Given the description of an element on the screen output the (x, y) to click on. 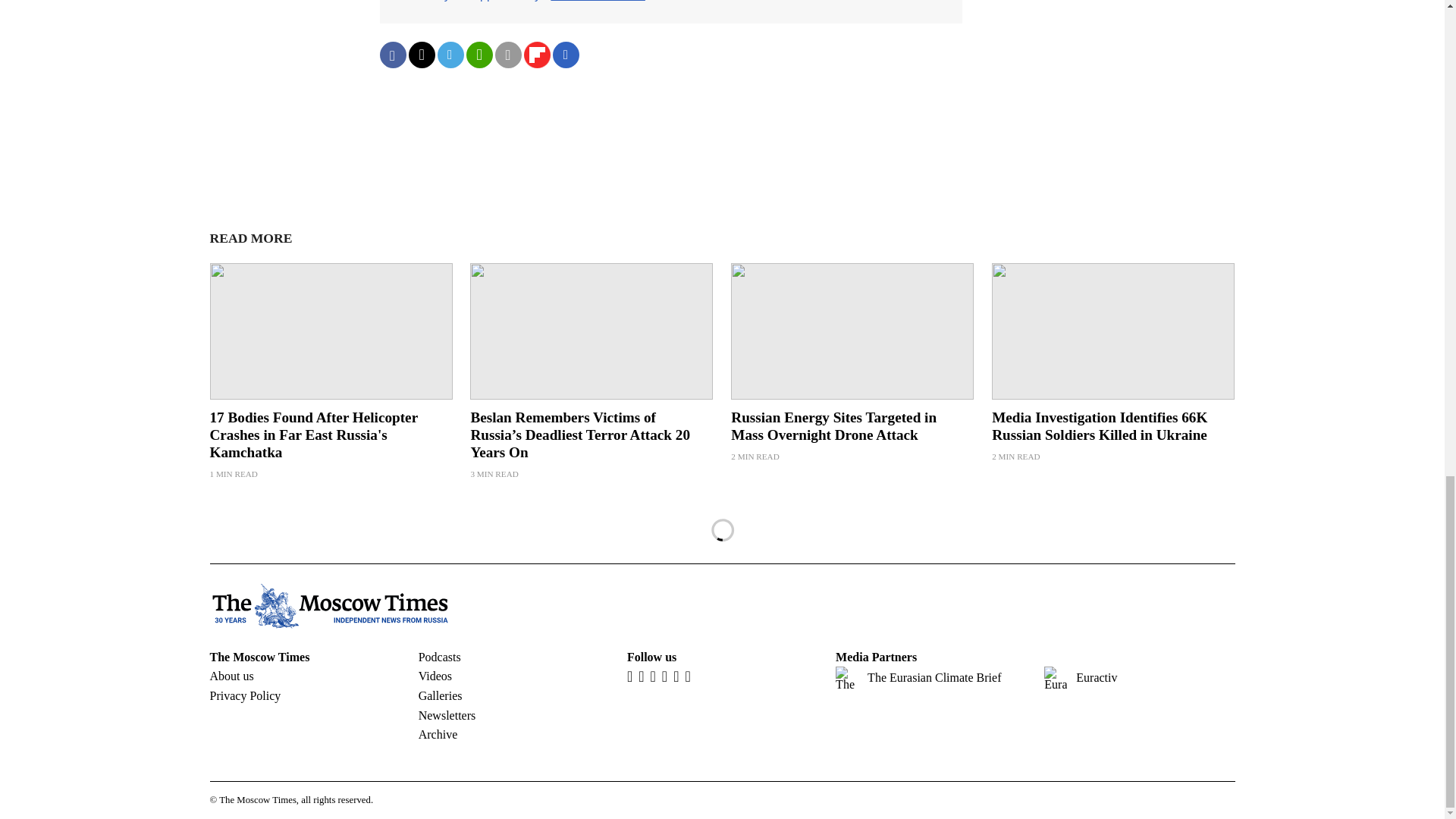
Share on Telegram (449, 54)
Share on Flipboard (536, 54)
Share on Twitter (420, 54)
Share on Facebook (392, 54)
